Given the description of an element on the screen output the (x, y) to click on. 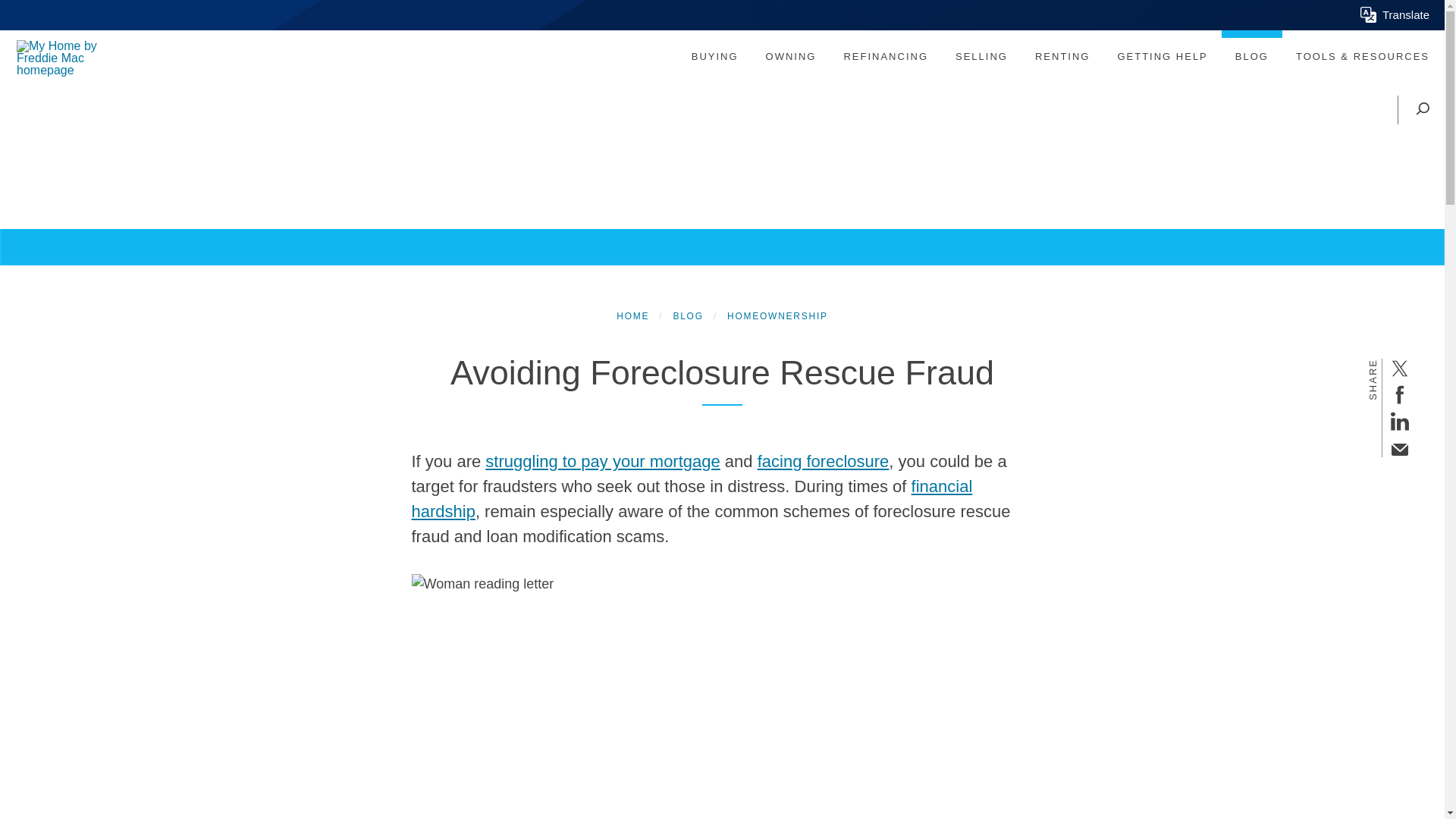
REFINANCING (885, 56)
RENTING (1062, 56)
Translate (1394, 15)
OWNING (790, 56)
SELLING (982, 56)
BUYING (714, 56)
BLOG (1251, 56)
GETTING HELP (1162, 56)
